Given the description of an element on the screen output the (x, y) to click on. 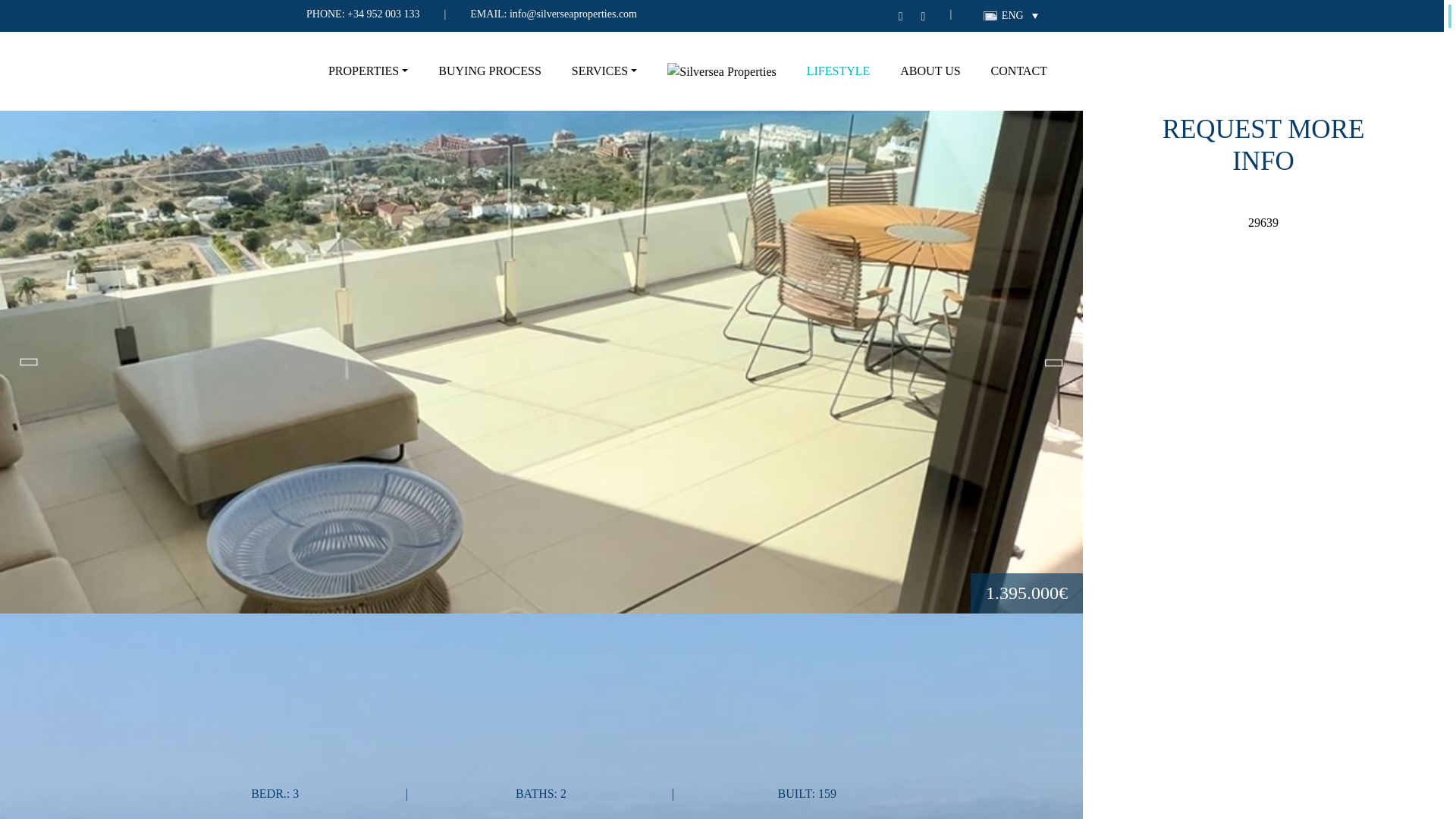
ENG (1010, 15)
PROPERTIES (368, 71)
SERVICES (604, 71)
LIFESTYLE (838, 71)
ABOUT US (929, 71)
CONTACT (1018, 71)
BUYING PROCESS (489, 71)
